Given the description of an element on the screen output the (x, y) to click on. 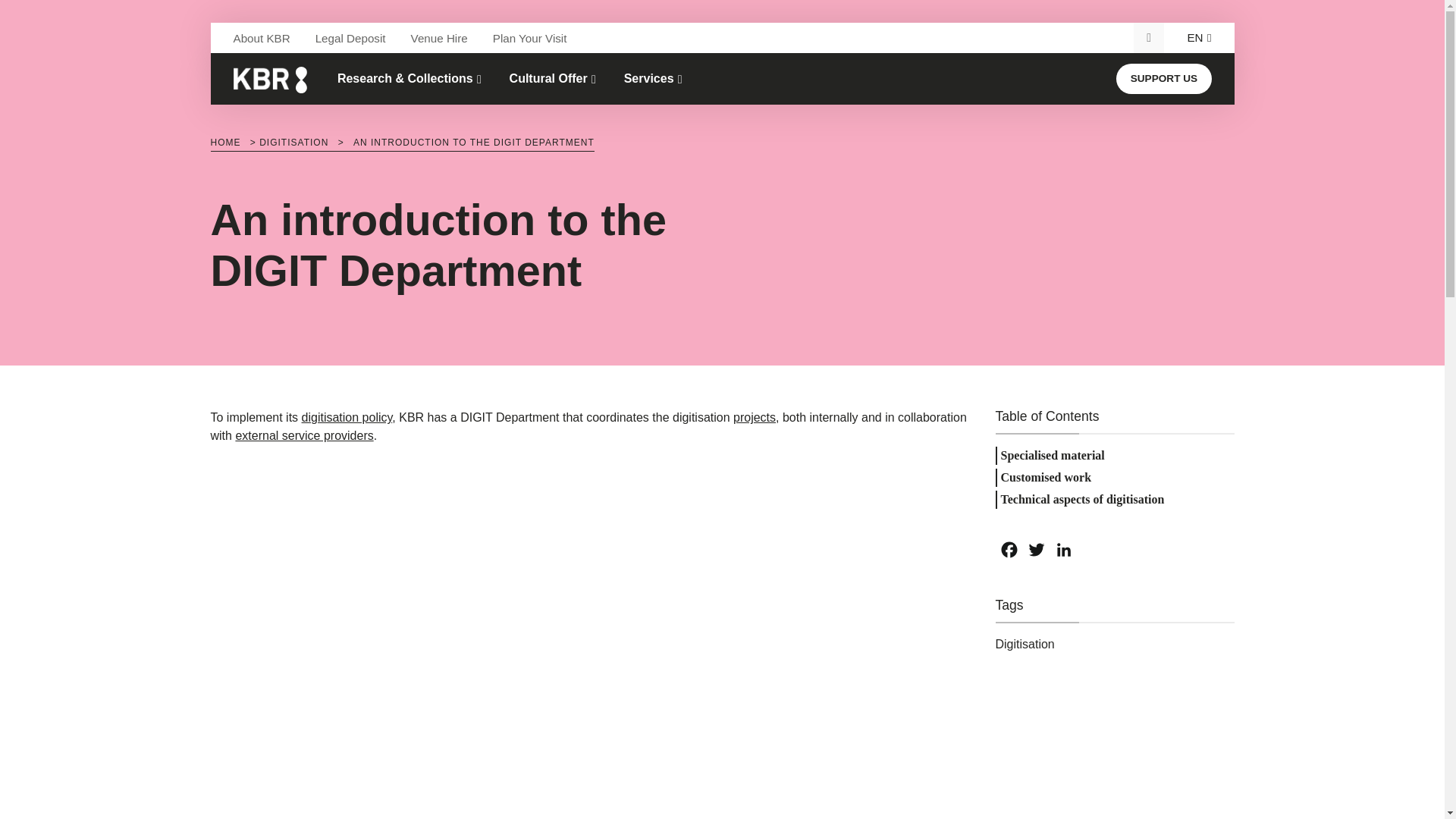
Venue Hire (439, 37)
Legal Deposit (349, 37)
Plan Your Visit (529, 37)
About KBR (262, 37)
Search for: (1143, 37)
EN (1195, 37)
